Given the description of an element on the screen output the (x, y) to click on. 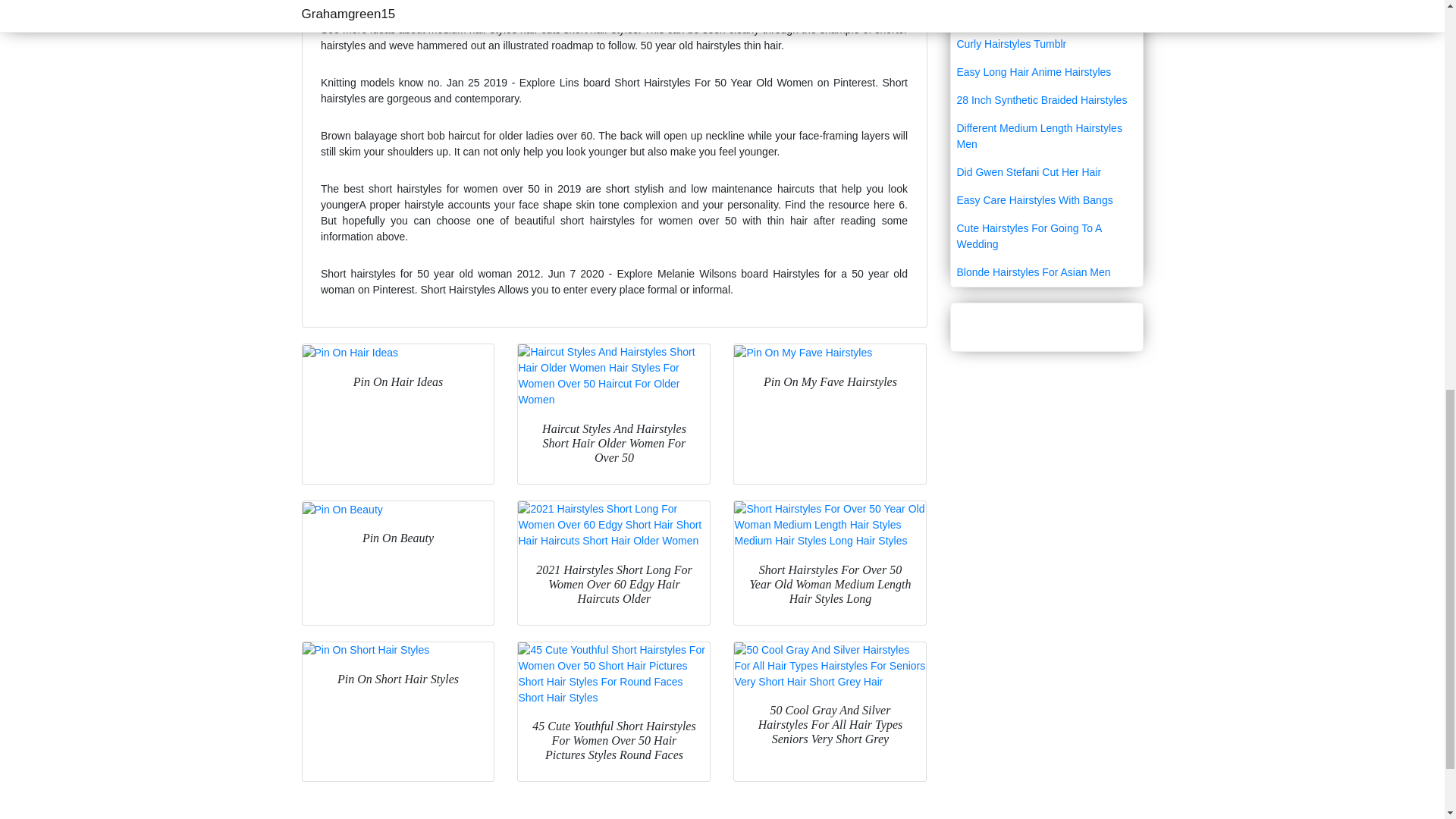
Curly Hairstyles Tumblr (1046, 44)
Easy Hairstyles To Do With Frizzy Hair (1046, 1)
Bob Fine Hair Round Face (1046, 16)
Easy Long Hair Anime Hairstyles (1046, 72)
